Given the description of an element on the screen output the (x, y) to click on. 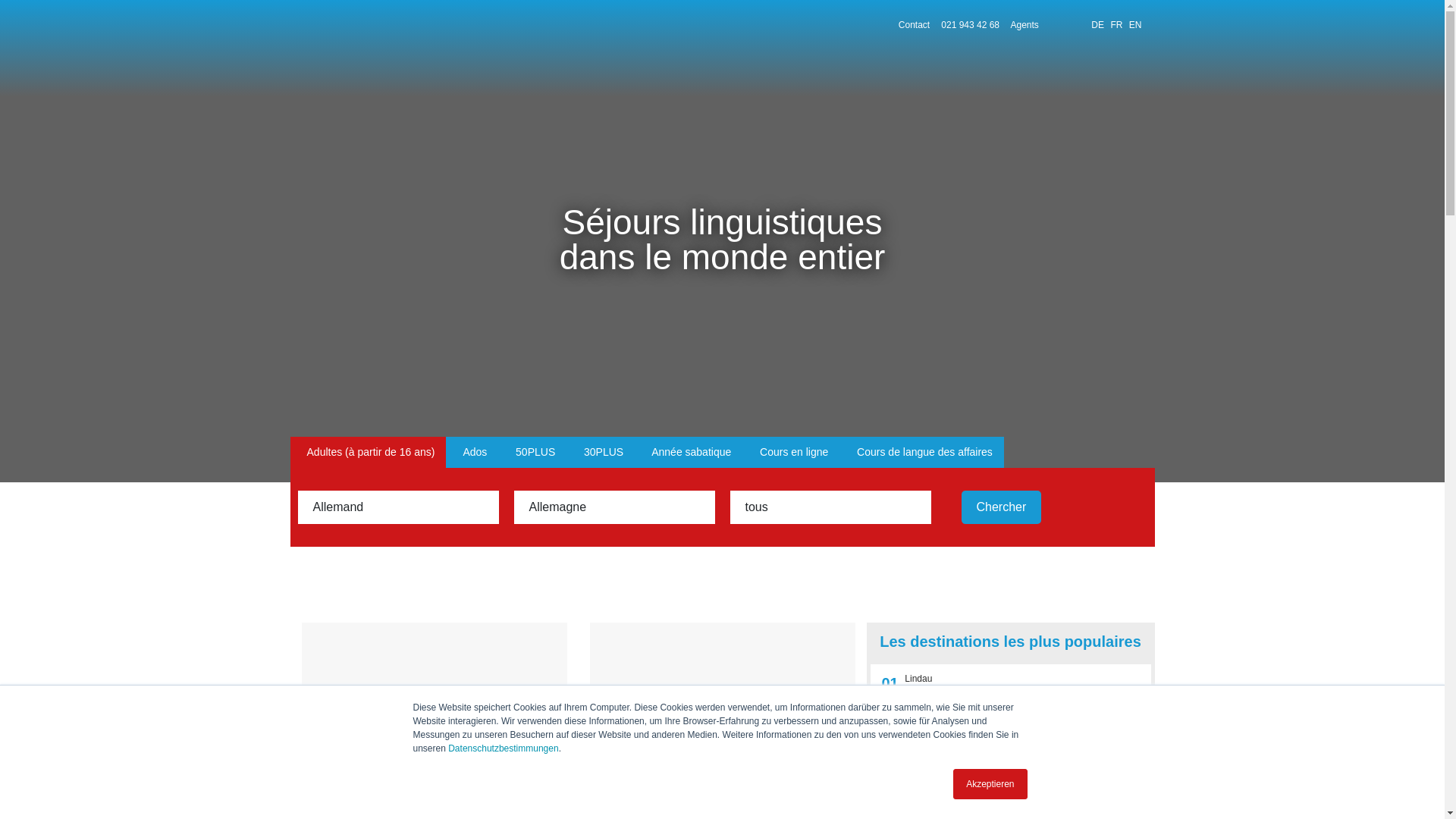
info@linguista.ch Element type: text (87, 504)
